Given the description of an element on the screen output the (x, y) to click on. 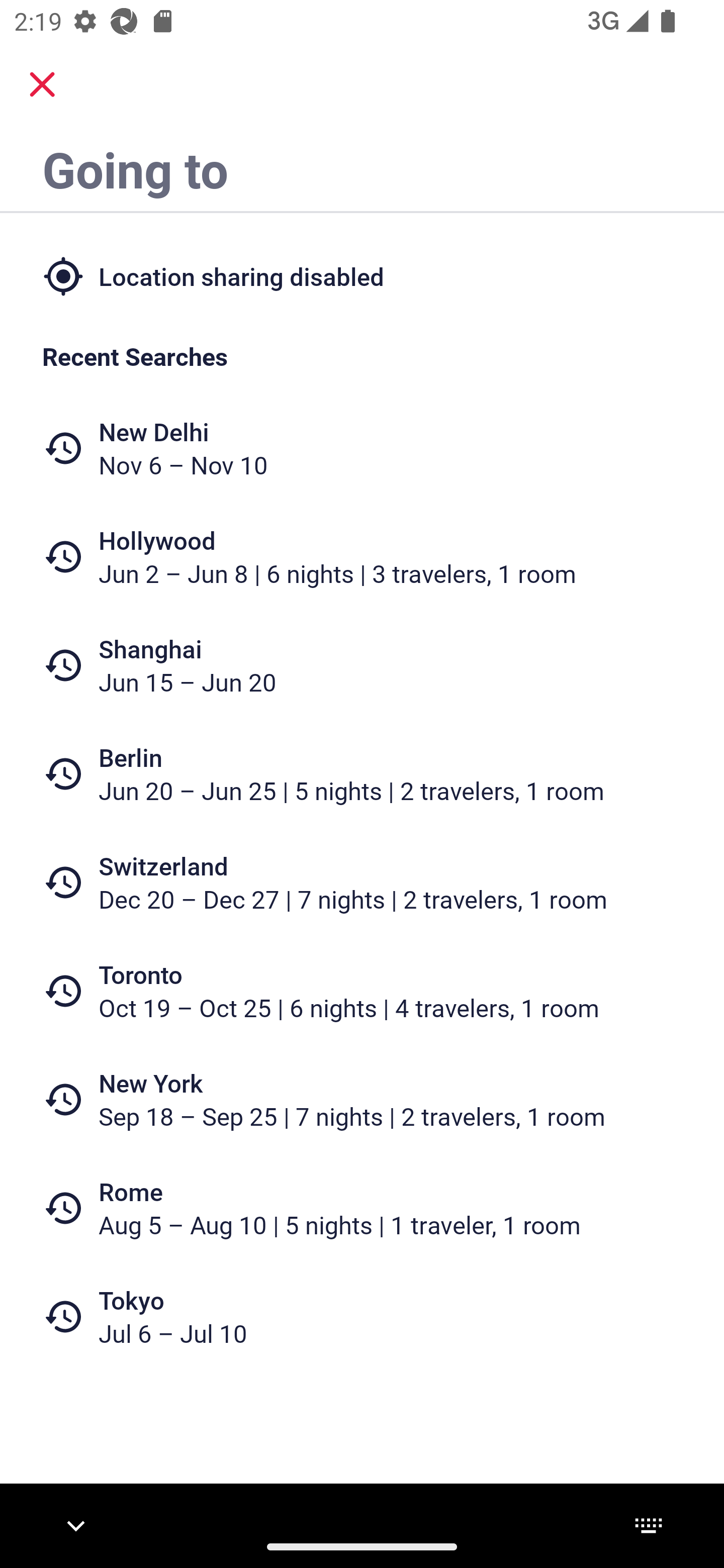
close. (42, 84)
Location sharing disabled (362, 275)
New Delhi Nov 6 – Nov 10 (362, 448)
Shanghai Jun 15 – Jun 20 (362, 665)
Tokyo Jul 6 – Jul 10 (362, 1316)
